Given the description of an element on the screen output the (x, y) to click on. 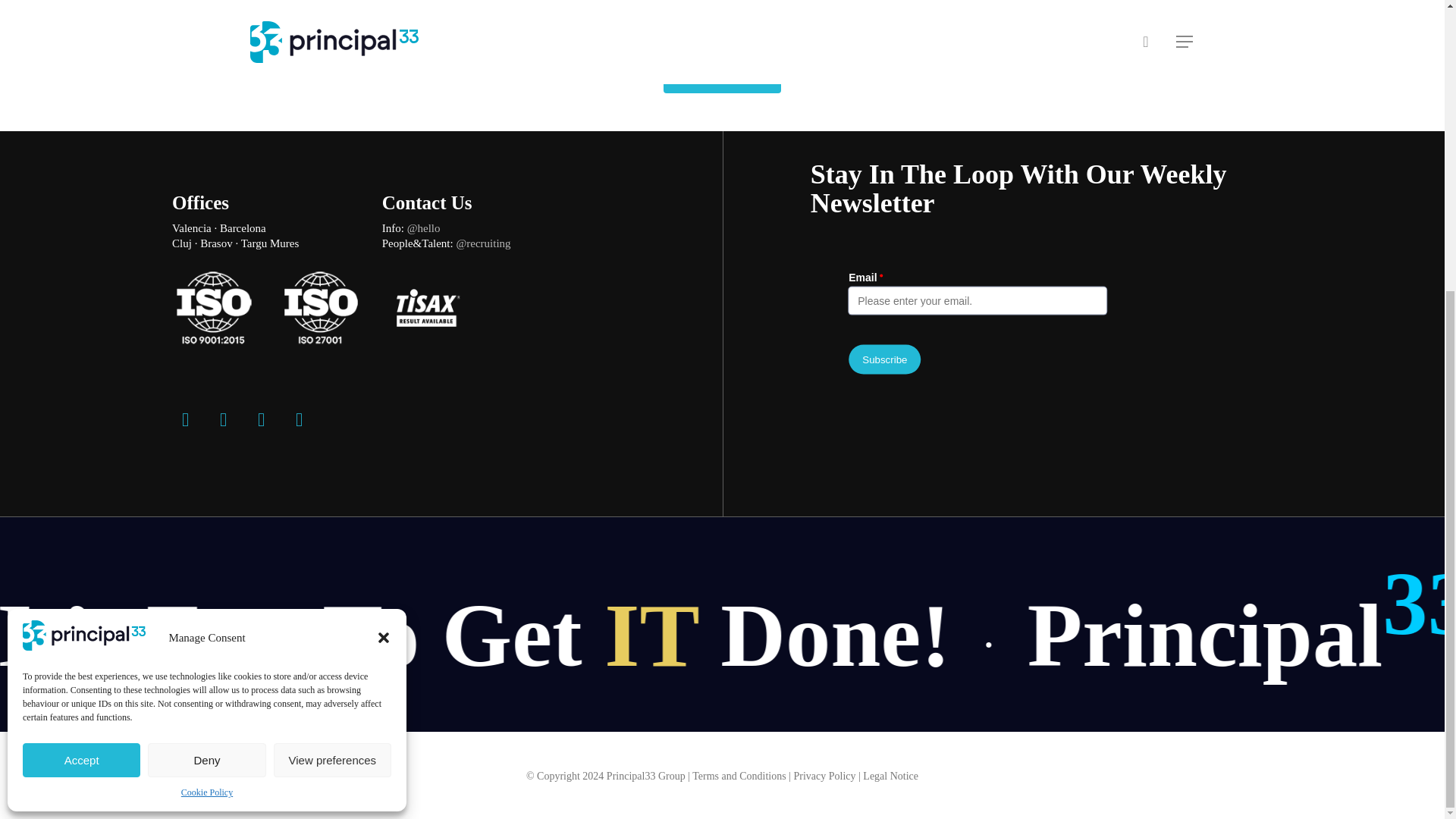
Cookie Policy (206, 349)
recruiting (488, 243)
hello (429, 227)
Deny (206, 317)
Accept (81, 317)
View preferences (332, 317)
Back Home (721, 74)
